Given the description of an element on the screen output the (x, y) to click on. 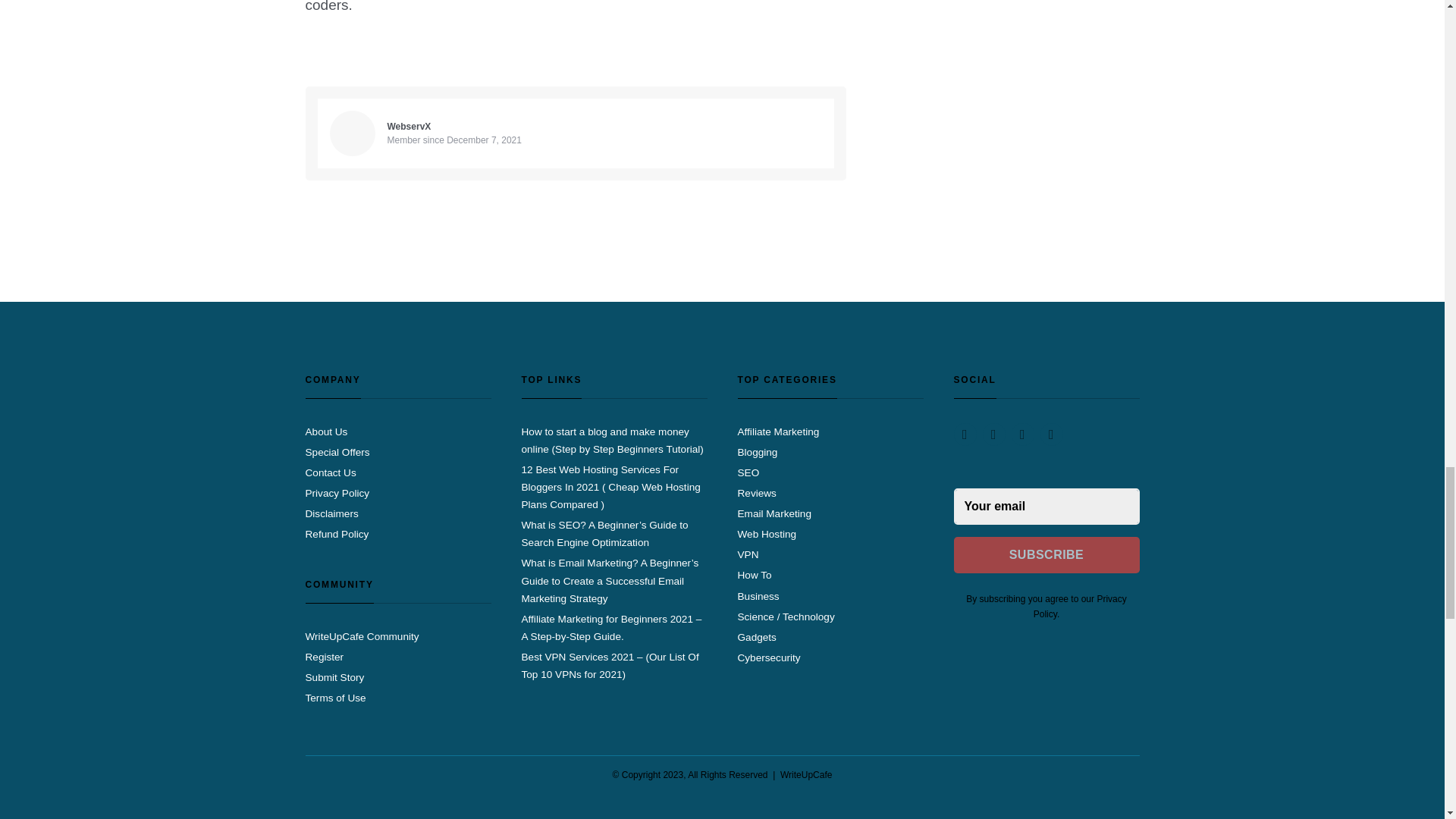
WebservX (408, 126)
